Given the description of an element on the screen output the (x, y) to click on. 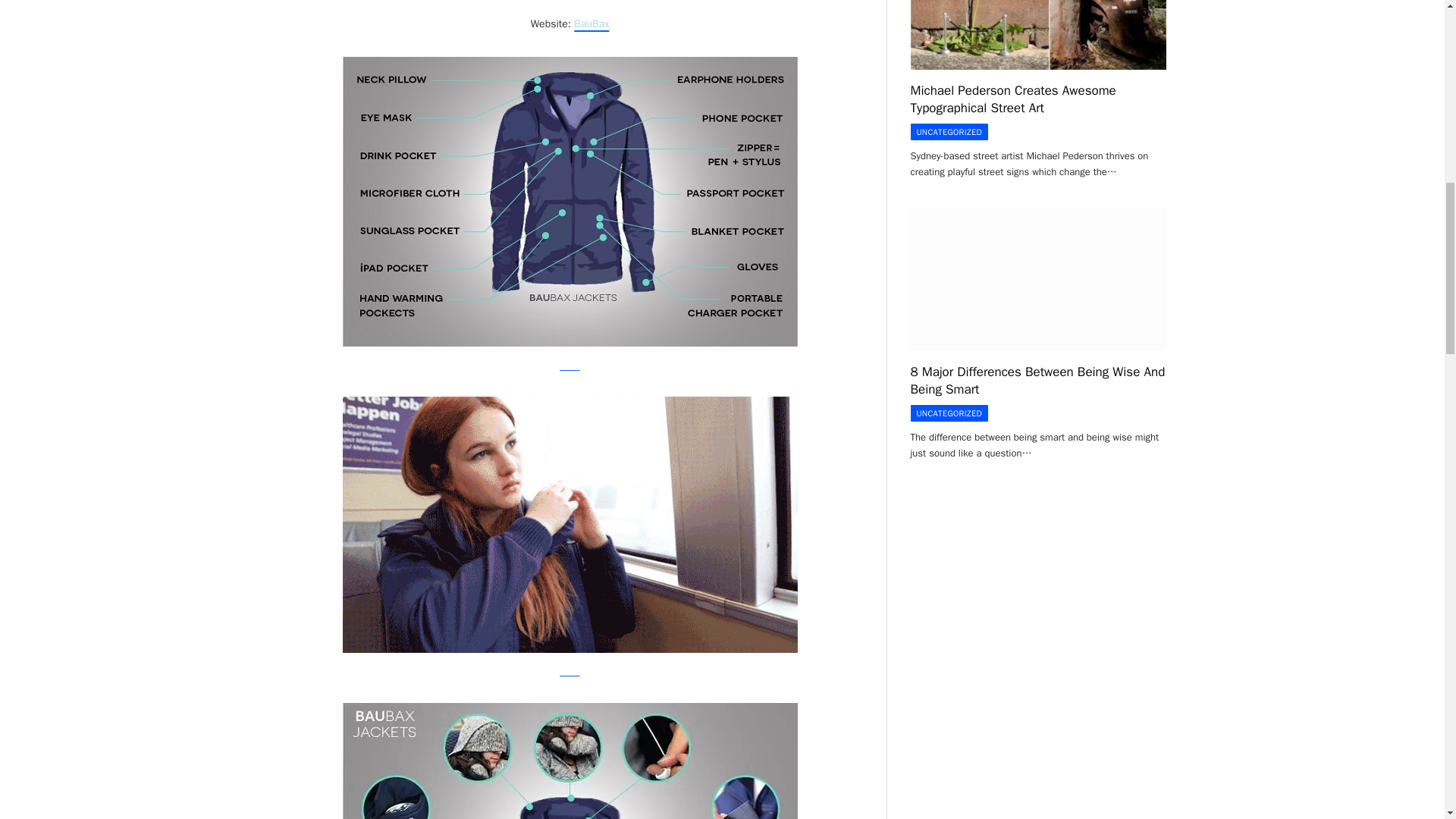
BauBax (590, 23)
BauBax (569, 363)
